Given the description of an element on the screen output the (x, y) to click on. 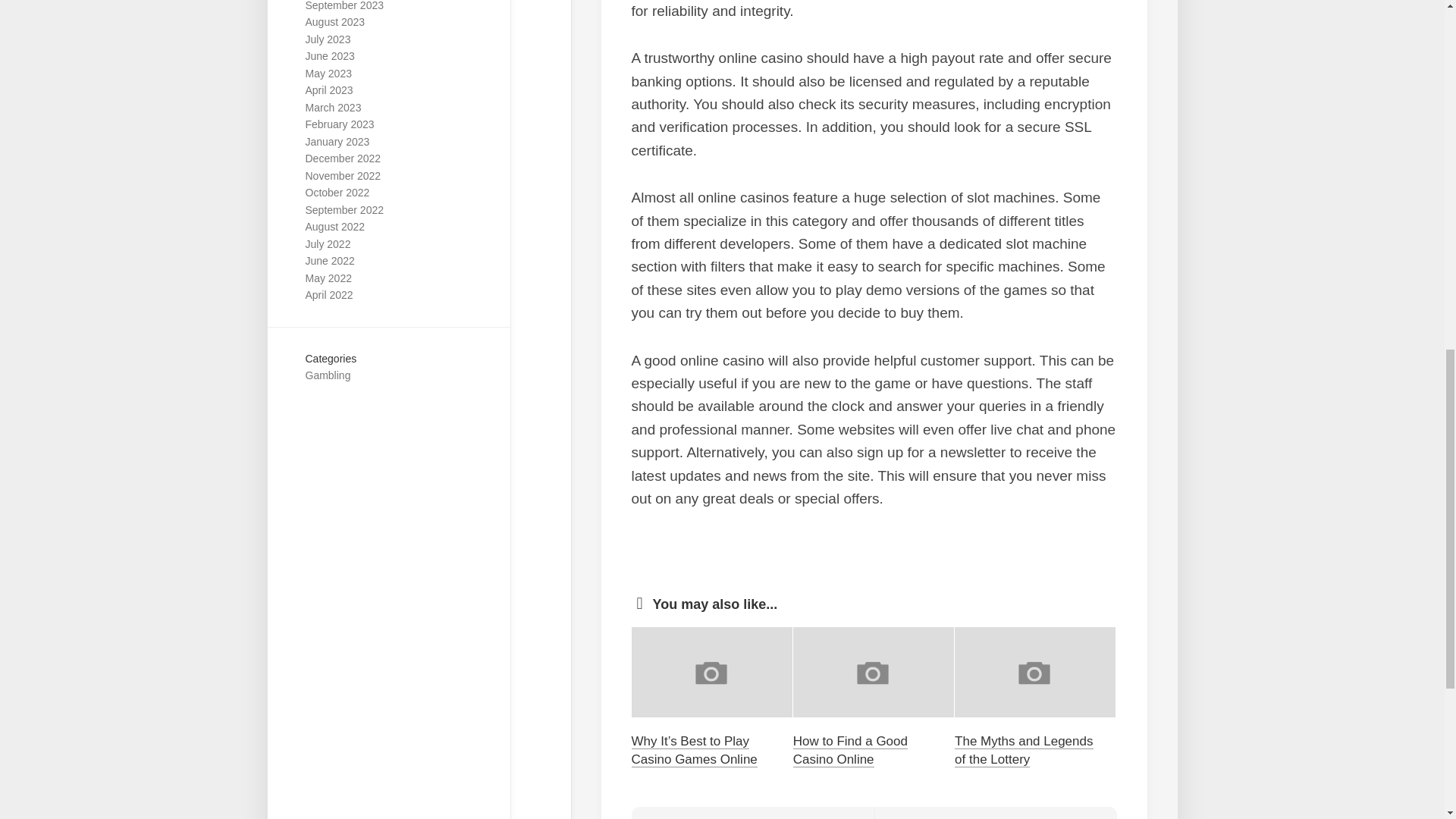
March 2023 (332, 107)
May 2022 (327, 277)
August 2023 (334, 21)
April 2023 (328, 90)
May 2023 (327, 73)
September 2022 (344, 209)
October 2022 (336, 192)
June 2022 (328, 260)
February 2023 (339, 123)
July 2022 (327, 244)
December 2022 (342, 158)
November 2022 (342, 175)
June 2023 (328, 55)
August 2022 (334, 226)
July 2023 (327, 39)
